Given the description of an element on the screen output the (x, y) to click on. 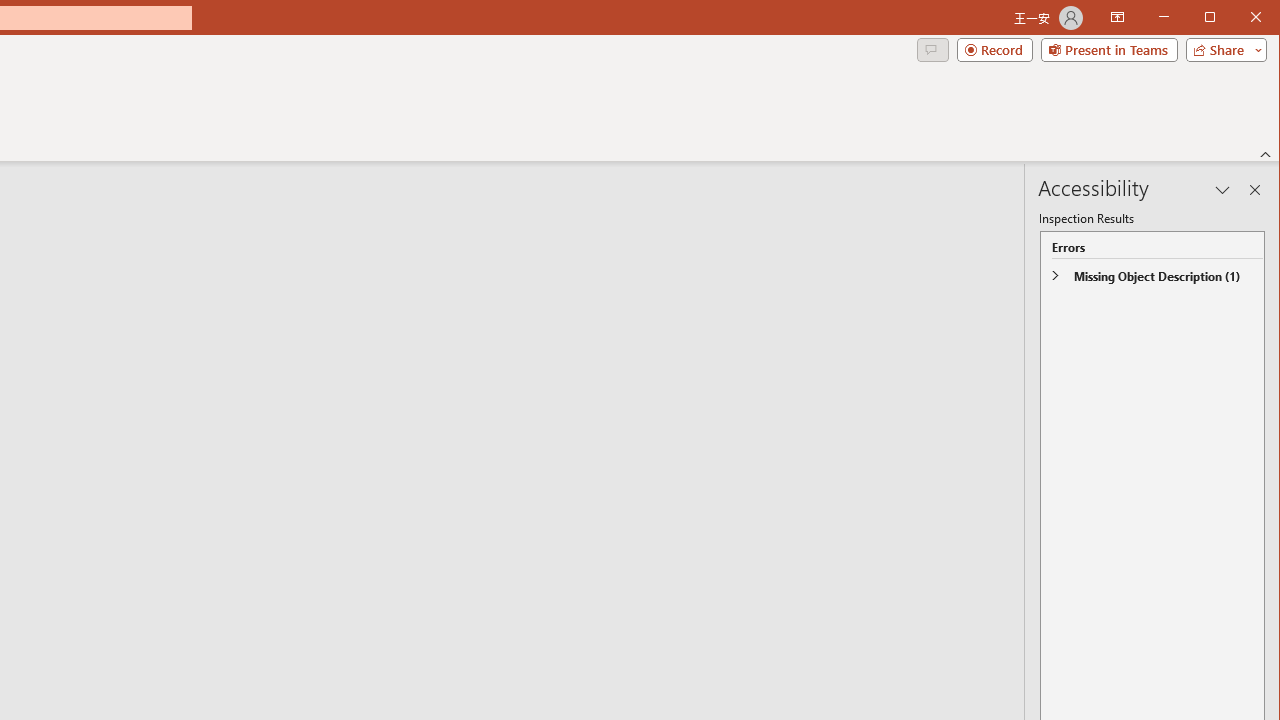
Maximize (1238, 18)
